Given the description of an element on the screen output the (x, y) to click on. 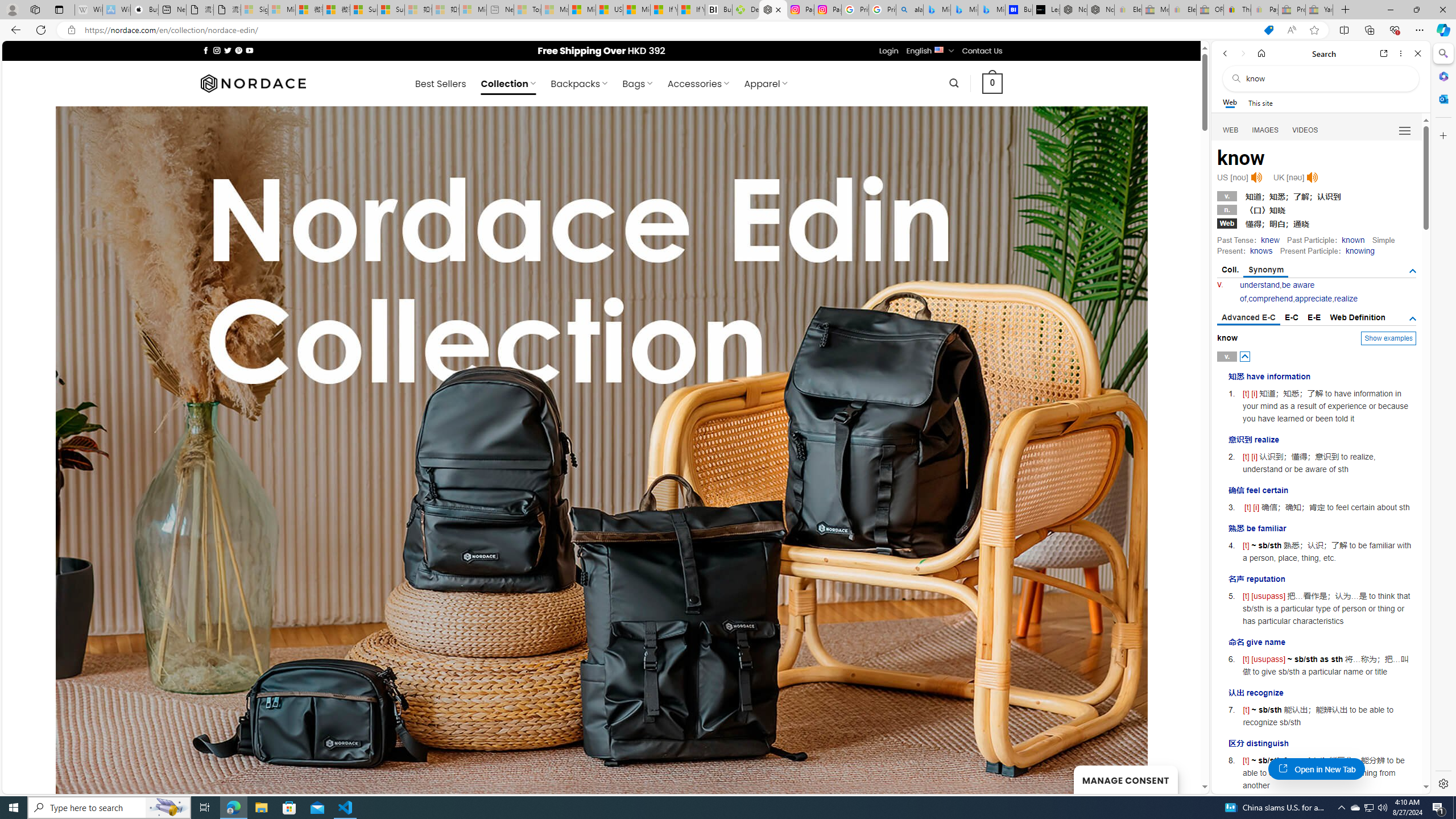
AutomationID: tgdef (1412, 318)
realize (1345, 298)
 0  (992, 83)
Microsoft Bing Travel - Shangri-La Hotel Bangkok (991, 9)
Class: collection-products hover-title product-12 (683, 633)
understand (1259, 284)
